Given the description of an element on the screen output the (x, y) to click on. 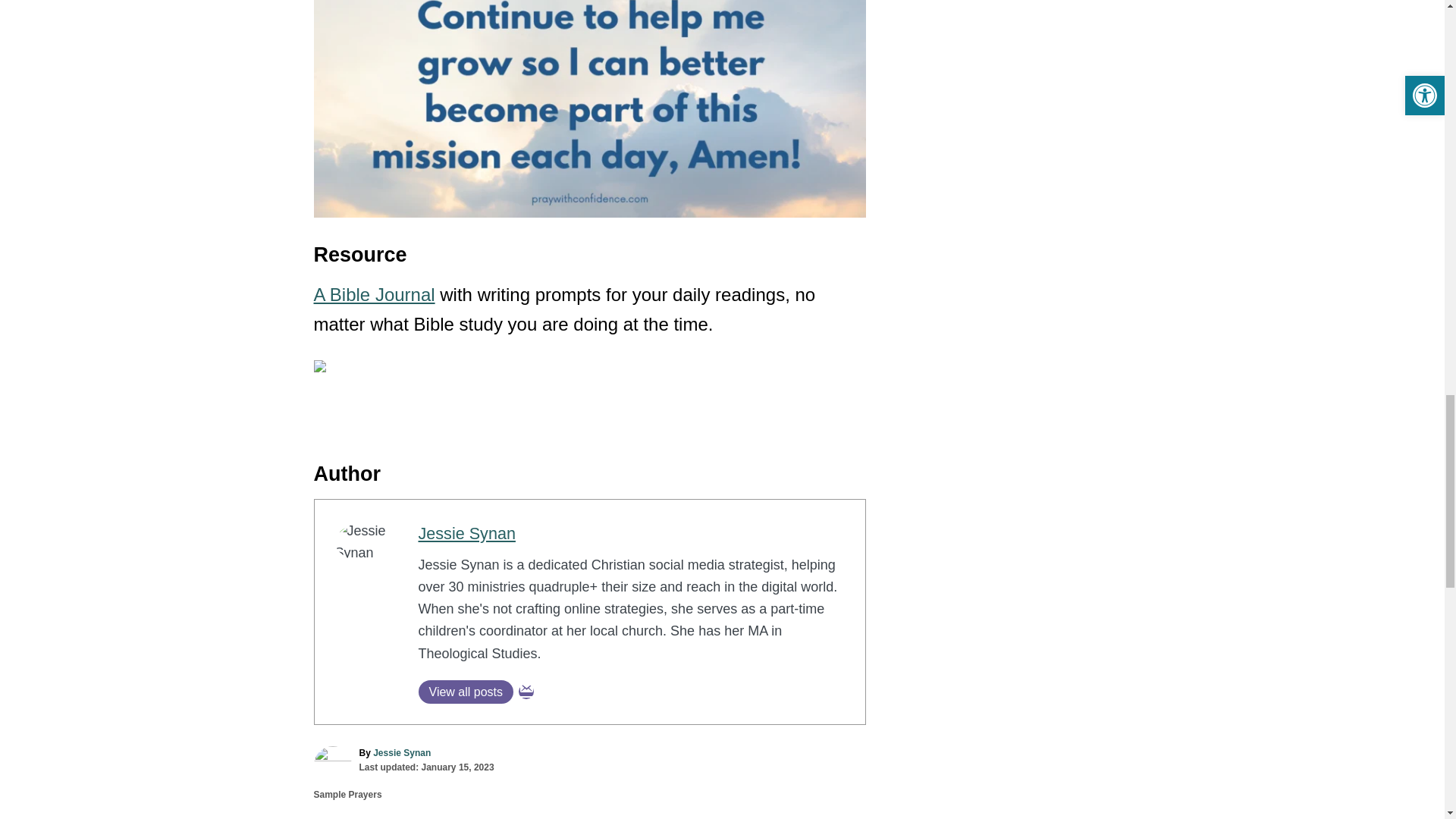
A Bible Journal (374, 294)
Jessie Synan (401, 752)
Sample Prayers (347, 794)
Jessie Synan (467, 533)
View all posts (466, 691)
View all posts (466, 691)
Jessie Synan (467, 533)
